Given the description of an element on the screen output the (x, y) to click on. 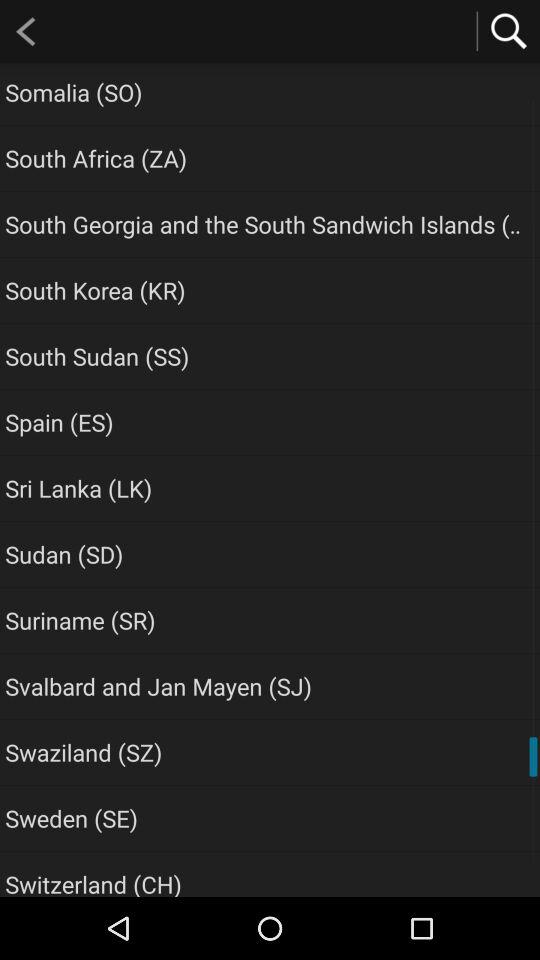
select the app below svalbard and jan app (83, 752)
